Given the description of an element on the screen output the (x, y) to click on. 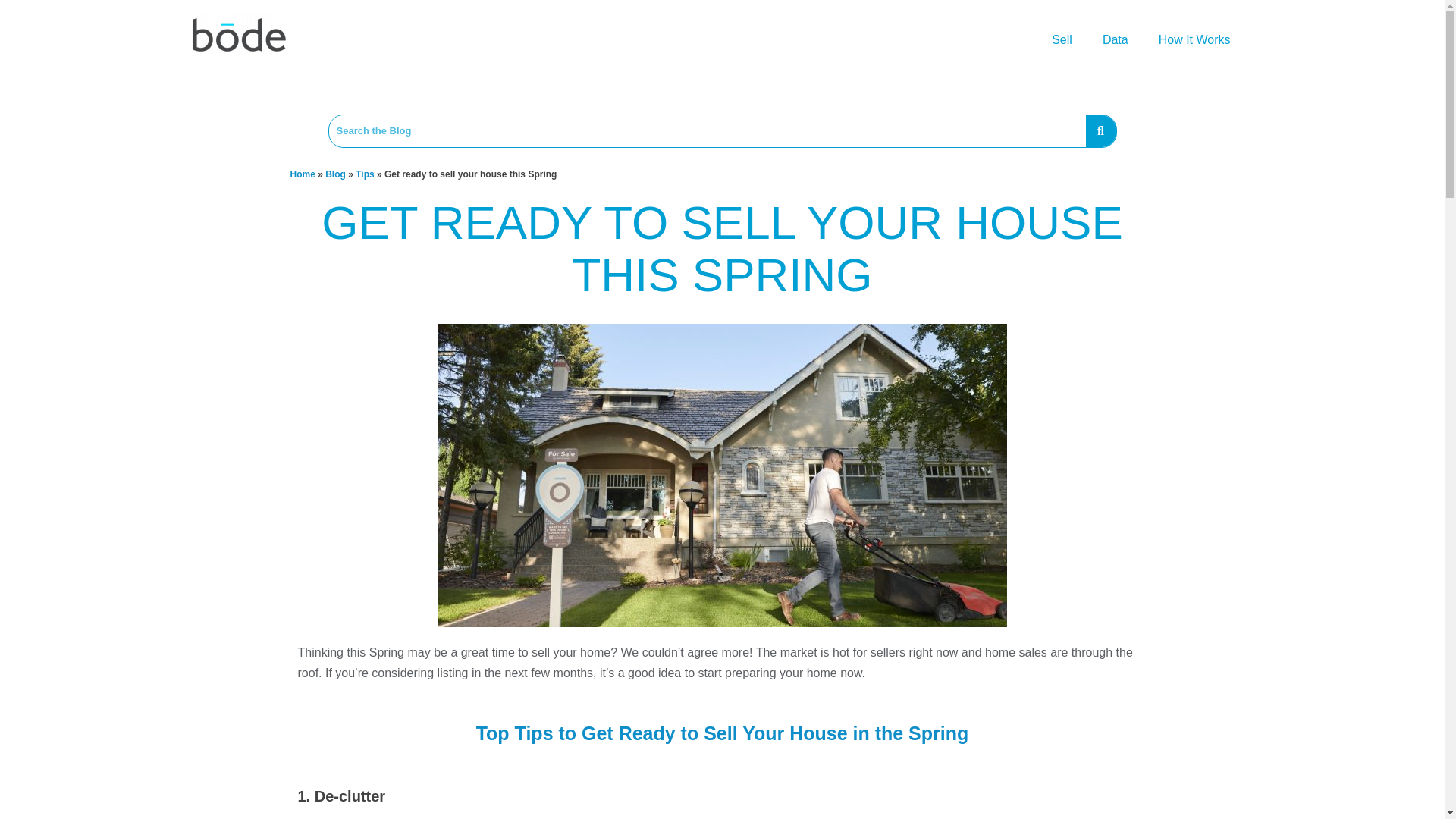
Search (707, 131)
Home (301, 173)
Blog (335, 173)
Data (1114, 39)
How It Works (1194, 39)
Sell (1061, 39)
bode-logo-transparent-web (237, 34)
Tips (364, 173)
